Given the description of an element on the screen output the (x, y) to click on. 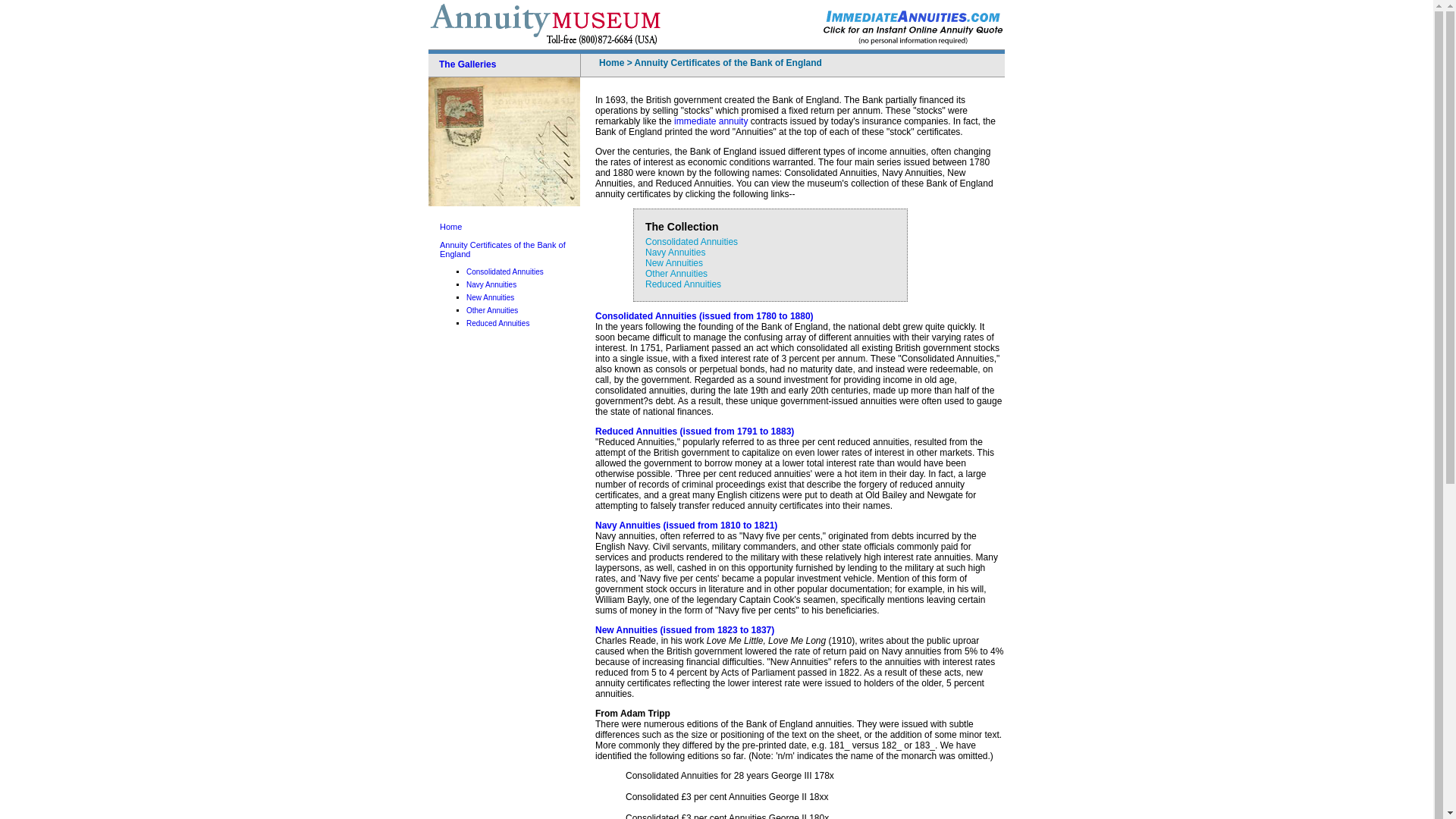
immediate annuity (711, 121)
Navy Annuities (490, 284)
Annuity Certificates of the Bank of England (728, 62)
Home (450, 225)
Consolidated Annuities (504, 271)
Annuity Certificates of the Bank of England (502, 249)
Home (611, 62)
New Annuities (674, 262)
Reduced Annuities (497, 323)
Reduced Annuities (682, 284)
